Given the description of an element on the screen output the (x, y) to click on. 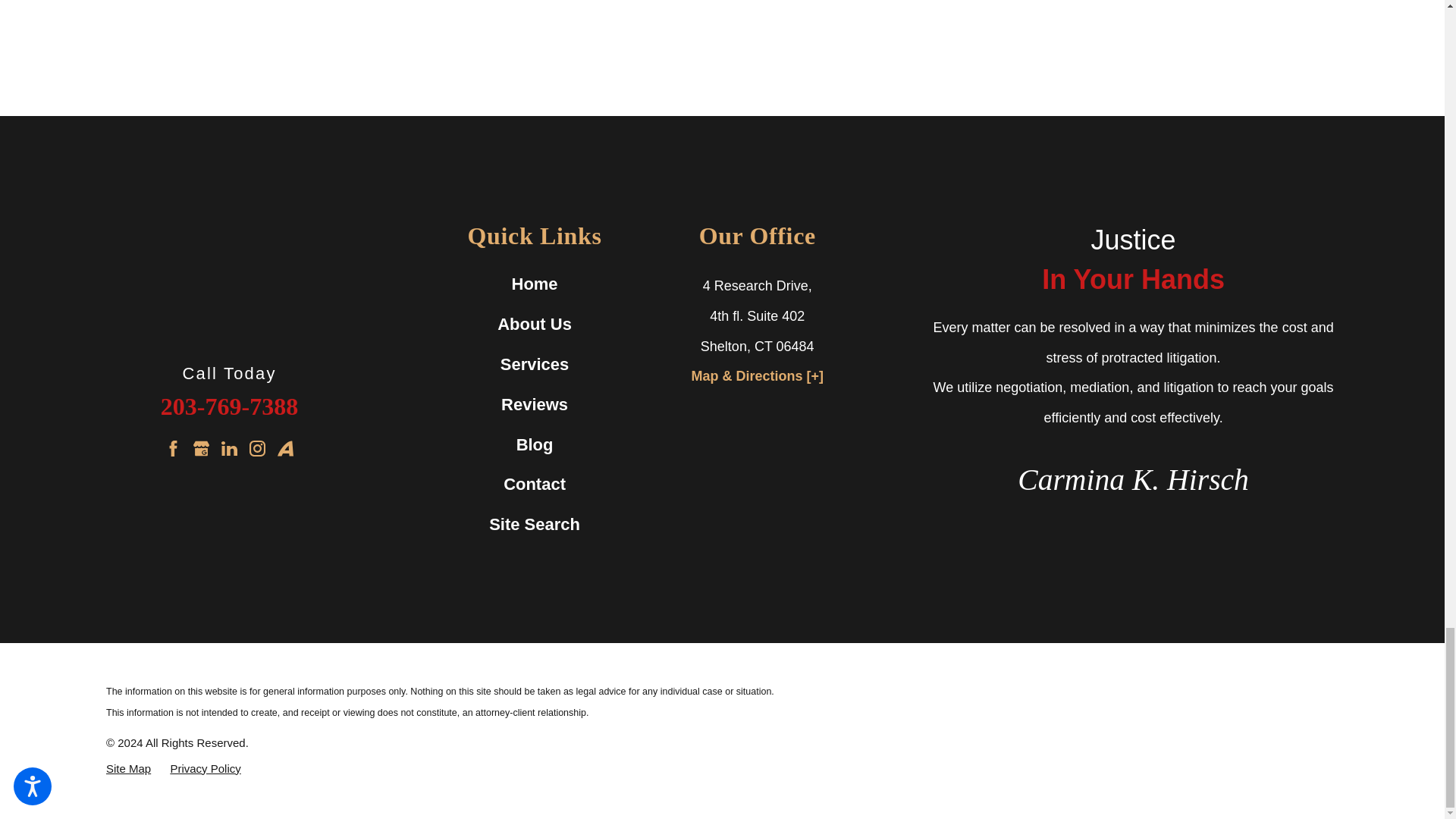
Google Business Profile (201, 448)
Instagram (256, 448)
Facebook (172, 448)
LinkedIn (229, 448)
